Given the description of an element on the screen output the (x, y) to click on. 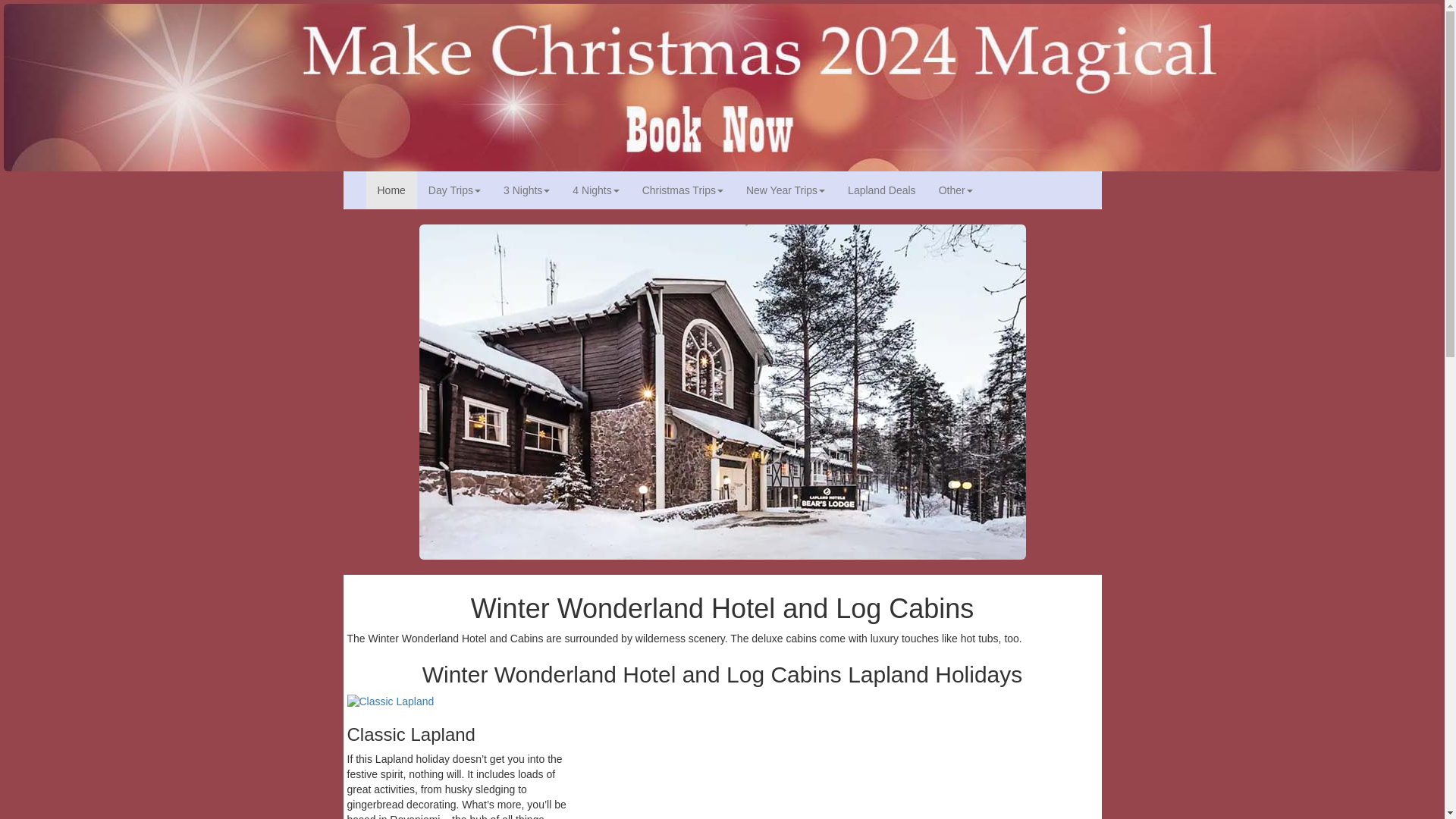
Lapland Deals (881, 190)
Christmas Trips (682, 190)
3 Nights (526, 190)
Day Trips (454, 190)
New Year Trips (785, 190)
Other (955, 190)
4 Nights (595, 190)
